Given the description of an element on the screen output the (x, y) to click on. 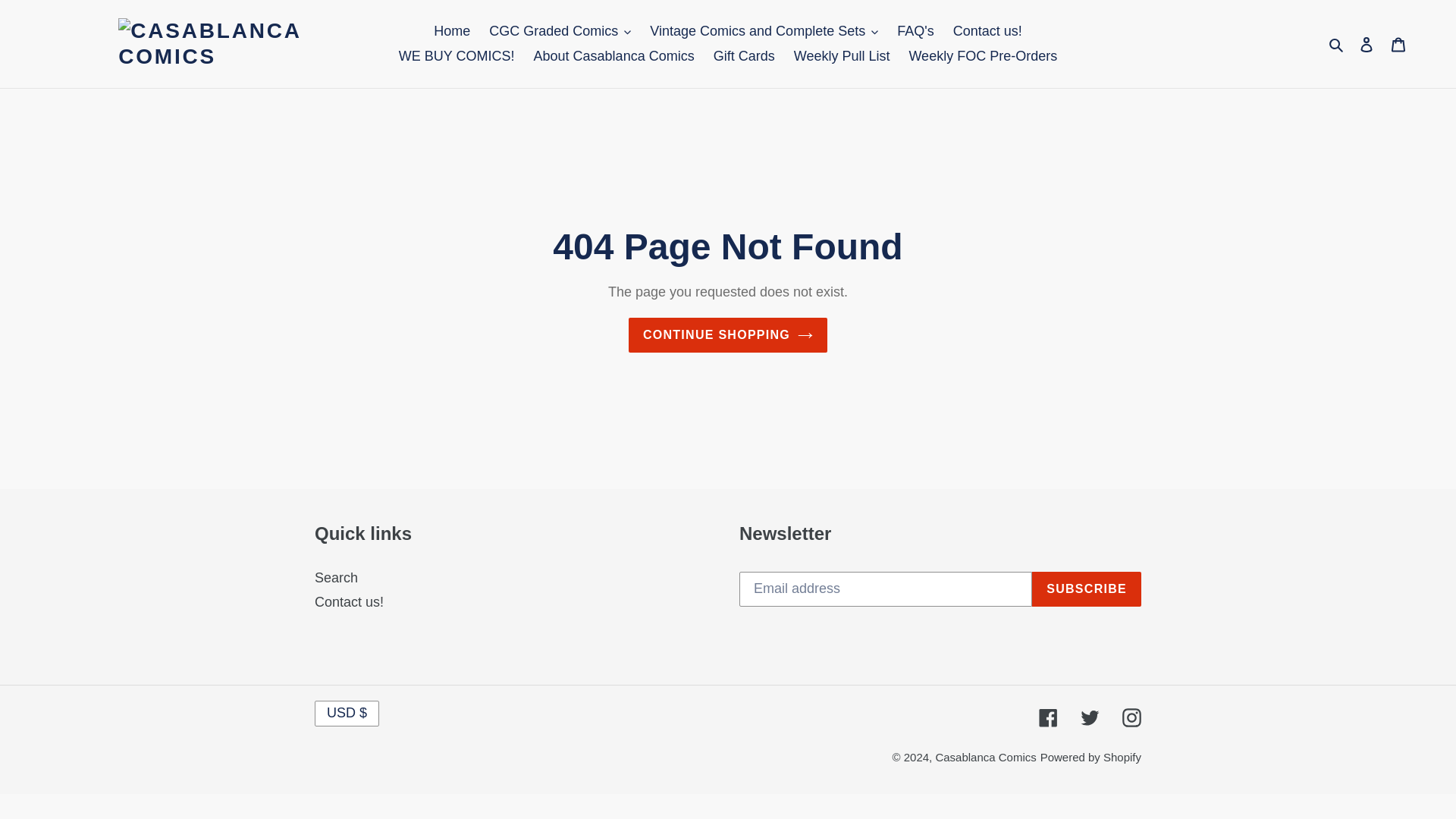
Cart (1397, 43)
Gift Cards (744, 56)
Vintage Comics and Complete Sets (763, 31)
Search (1337, 44)
Weekly Pull List (842, 56)
About Casablanca Comics (613, 56)
Log in (1366, 43)
Home (451, 31)
CGC Graded Comics (560, 31)
FAQ's (914, 31)
Contact us! (986, 31)
WE BUY COMICS! (456, 56)
Weekly FOC Pre-Orders (982, 56)
